Given the description of an element on the screen output the (x, y) to click on. 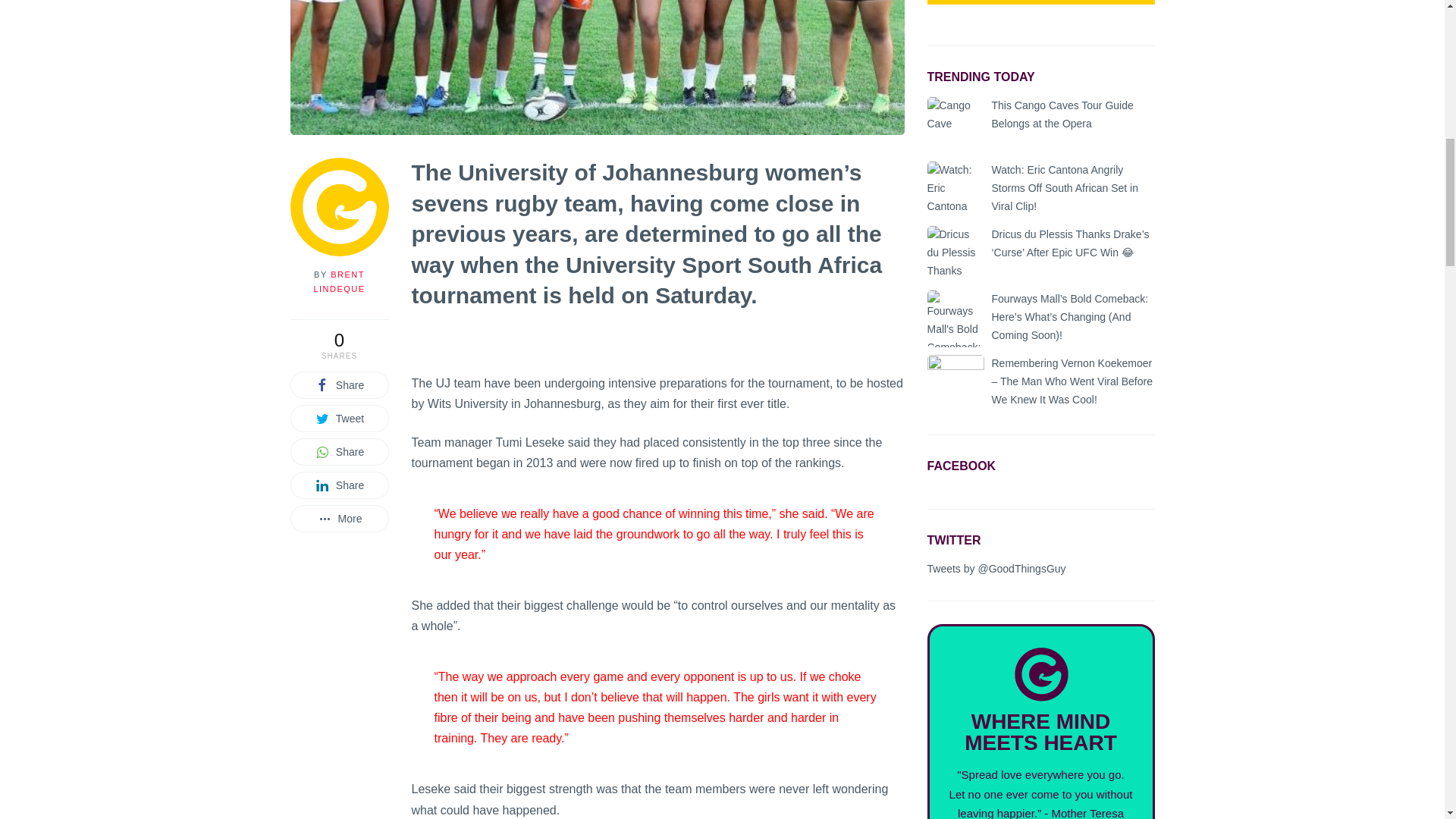
BRENT LINDEQUE (339, 281)
Share (338, 484)
Share (338, 452)
More (338, 518)
Share on LinkedIn (338, 484)
Share on Twitter (338, 418)
Tweet (338, 418)
Share on Whatsapp (338, 452)
Share (338, 384)
More (338, 518)
